Given the description of an element on the screen output the (x, y) to click on. 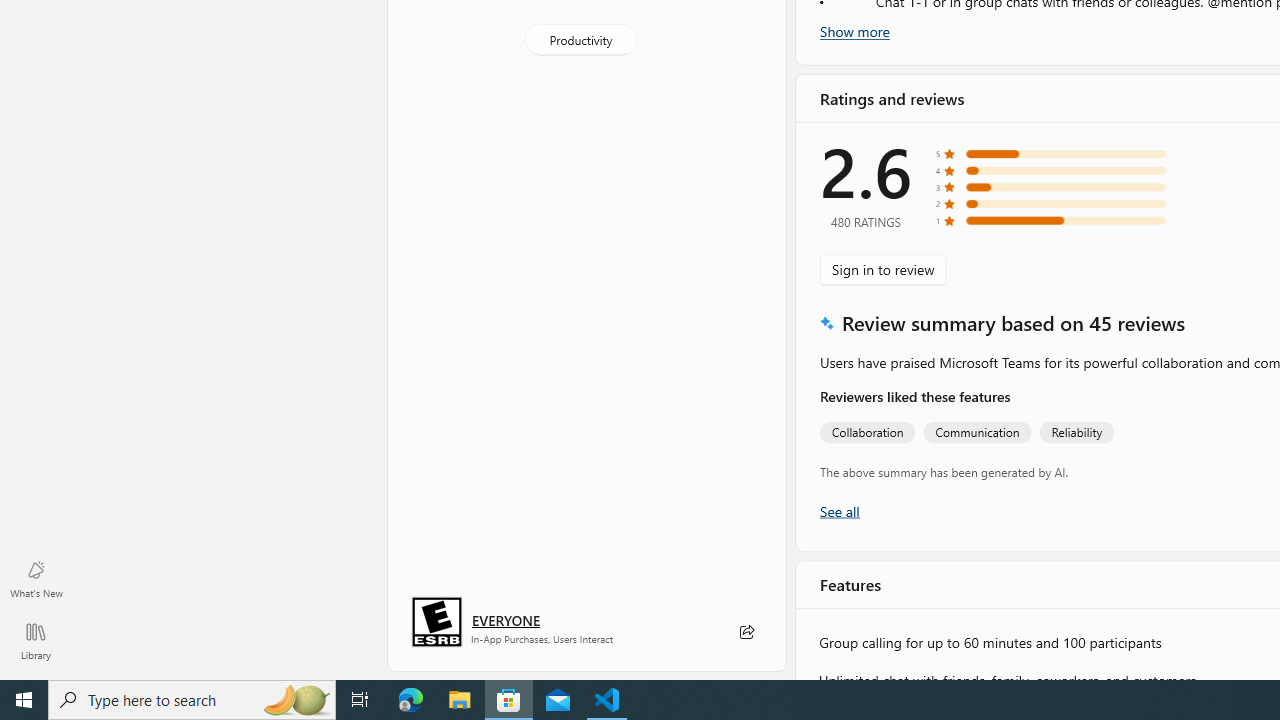
Age rating: EVERYONE. Click for more information. (506, 619)
Sign in to review (882, 269)
Library (35, 640)
Show all ratings and reviews (838, 510)
Productivity (579, 38)
What's New (35, 578)
Share (746, 632)
Show more (854, 31)
